Given the description of an element on the screen output the (x, y) to click on. 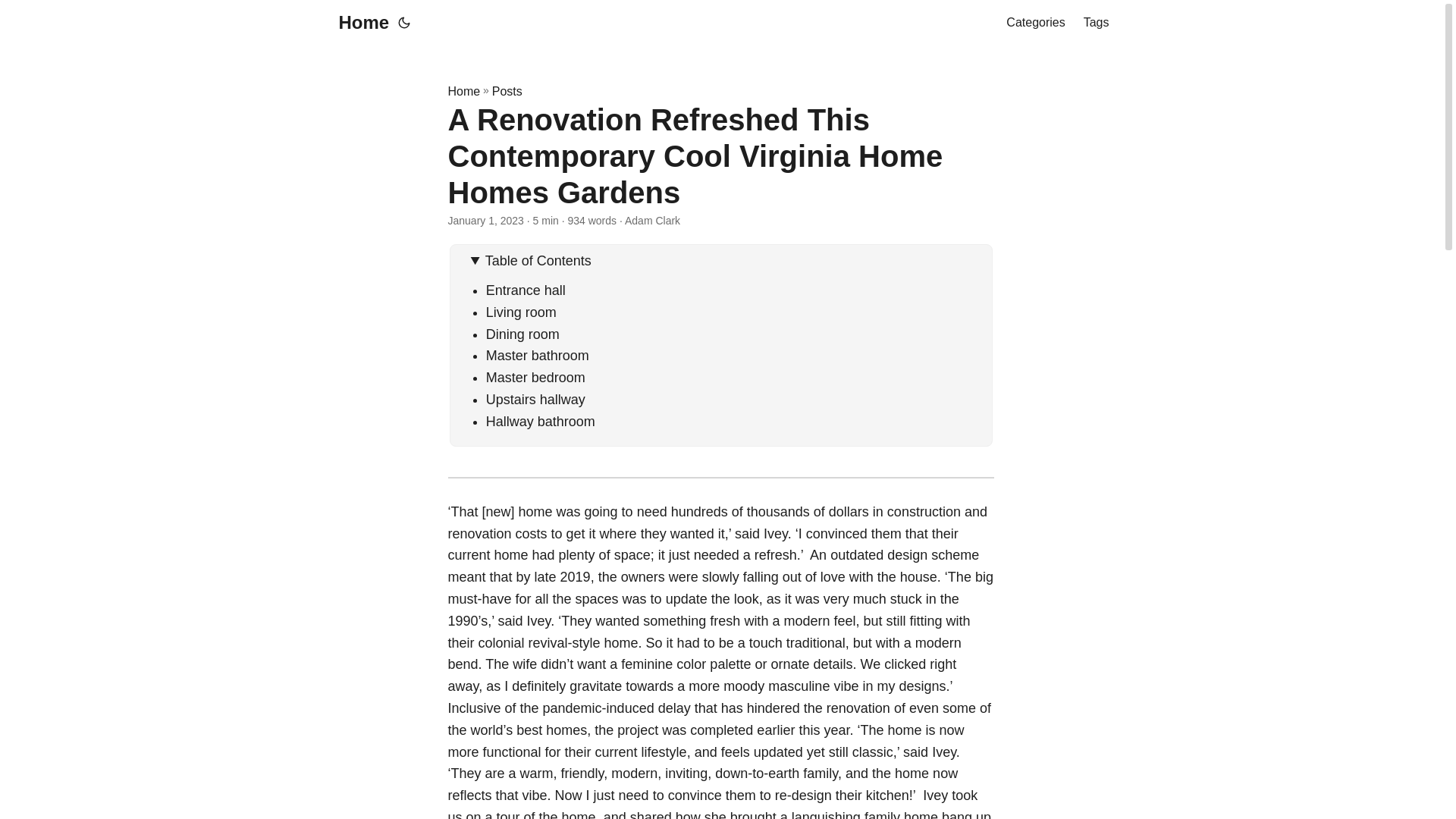
Hallway bathroom (540, 421)
Categories (1035, 22)
Master bathroom  (539, 355)
Upstairs hallway (535, 399)
Master bedroom (535, 377)
Living room  (523, 312)
Categories (1035, 22)
Dining room (522, 334)
Home (463, 91)
Posts (507, 91)
